Given the description of an element on the screen output the (x, y) to click on. 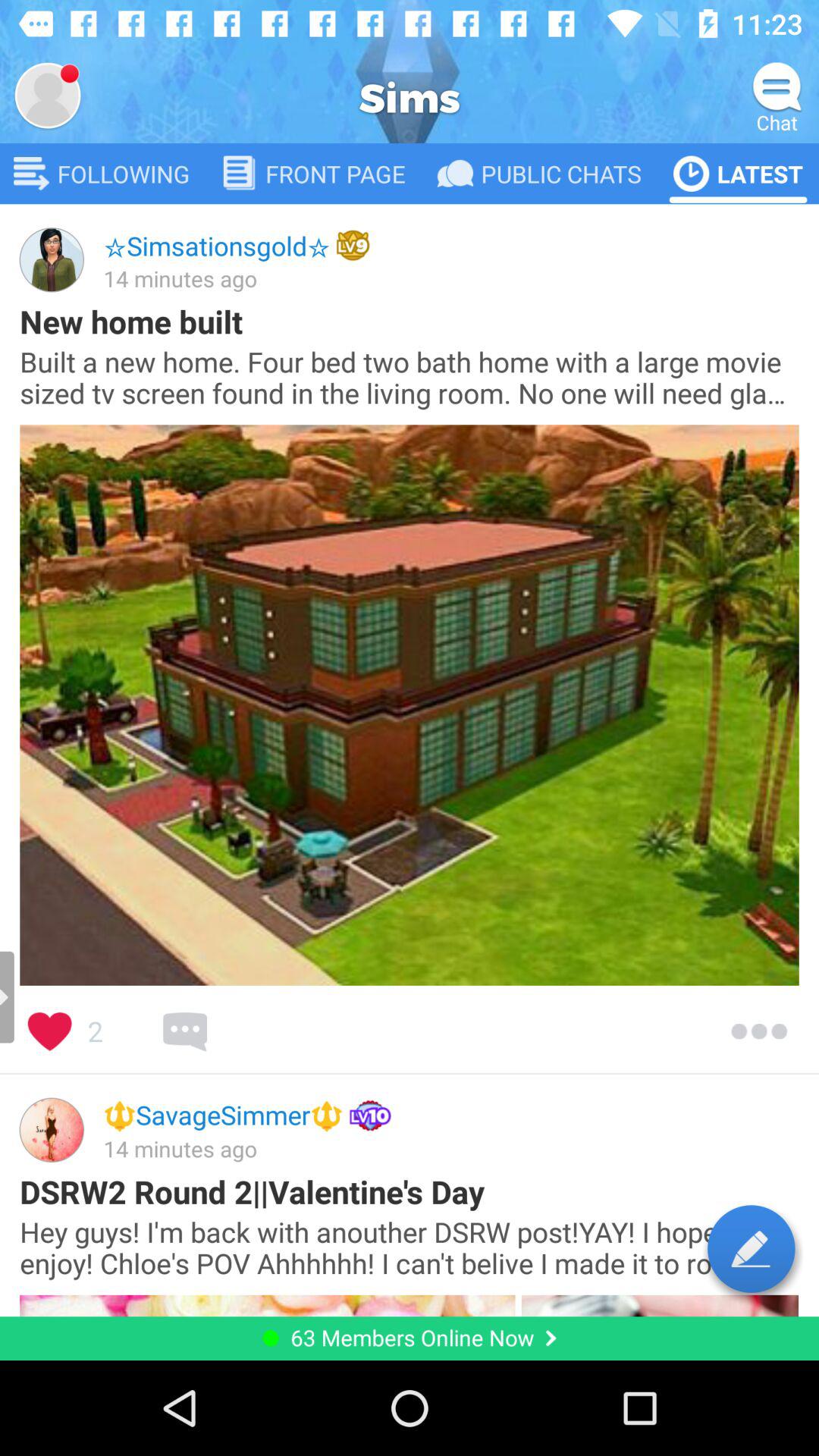
edit post (751, 1248)
